Given the description of an element on the screen output the (x, y) to click on. 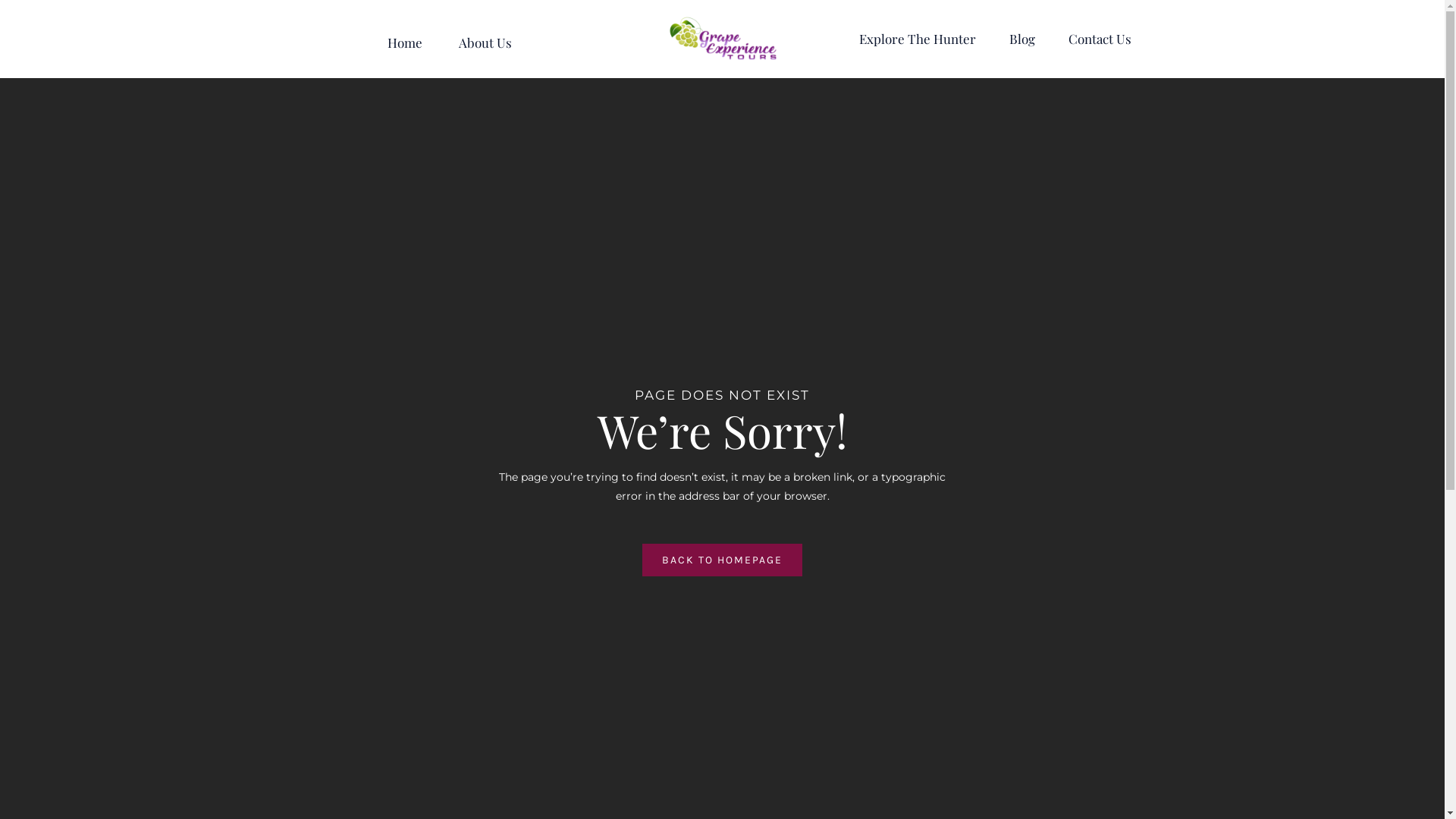
About Us Element type: text (484, 38)
Blog Element type: text (1021, 38)
BACK TO HOMEPAGE Element type: text (722, 559)
Contact Us Element type: text (1099, 38)
Explore The Hunter Element type: text (917, 38)
Home Element type: text (403, 38)
